Given the description of an element on the screen output the (x, y) to click on. 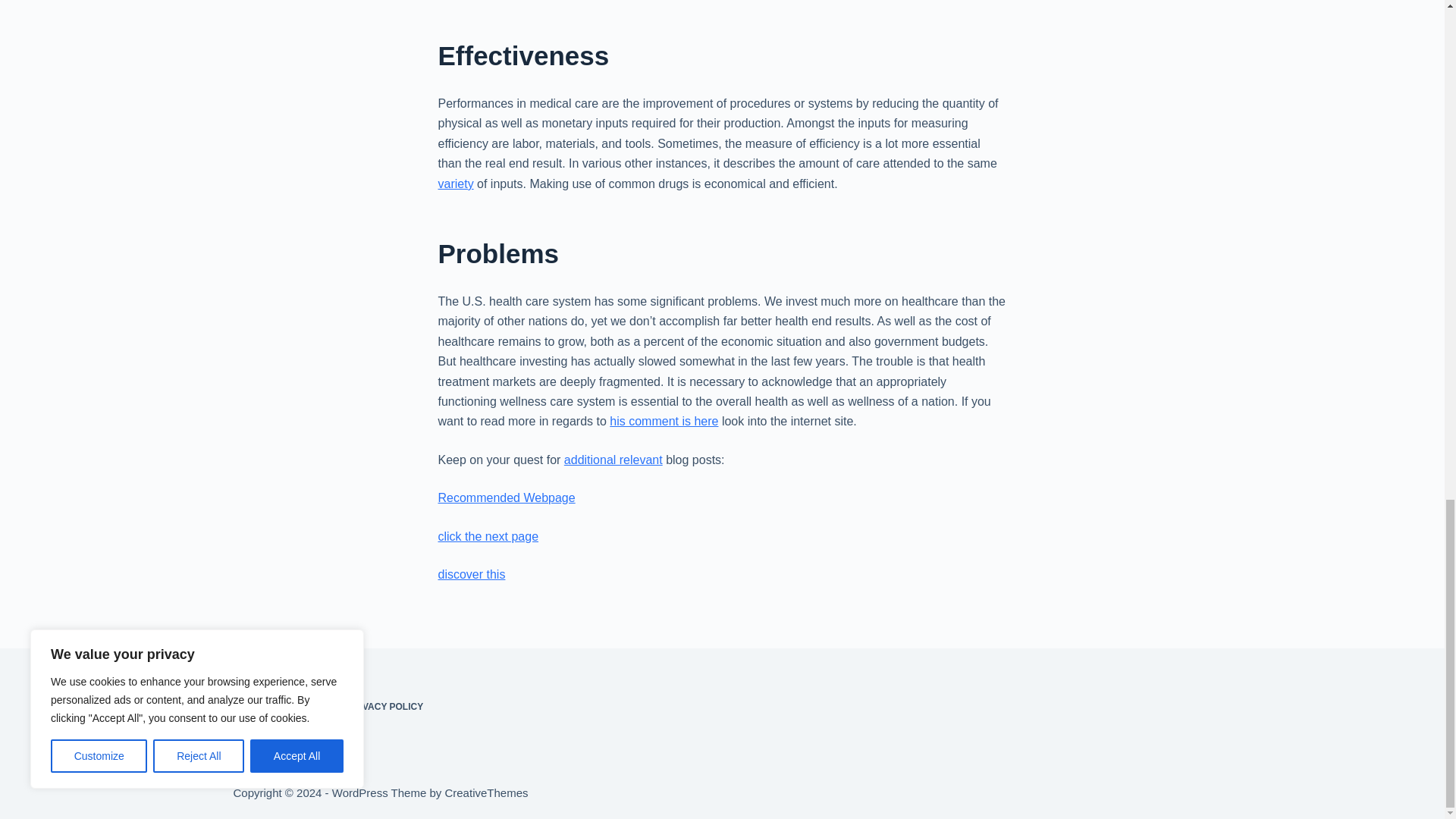
CreativeThemes (485, 792)
discover this (471, 574)
variety (456, 183)
PRIVACY POLICY (384, 707)
Recommended Webpage (506, 497)
click the next page (488, 535)
ABOUT (249, 707)
his comment is here (663, 420)
additional relevant (613, 459)
CONTACT (306, 707)
